Given the description of an element on the screen output the (x, y) to click on. 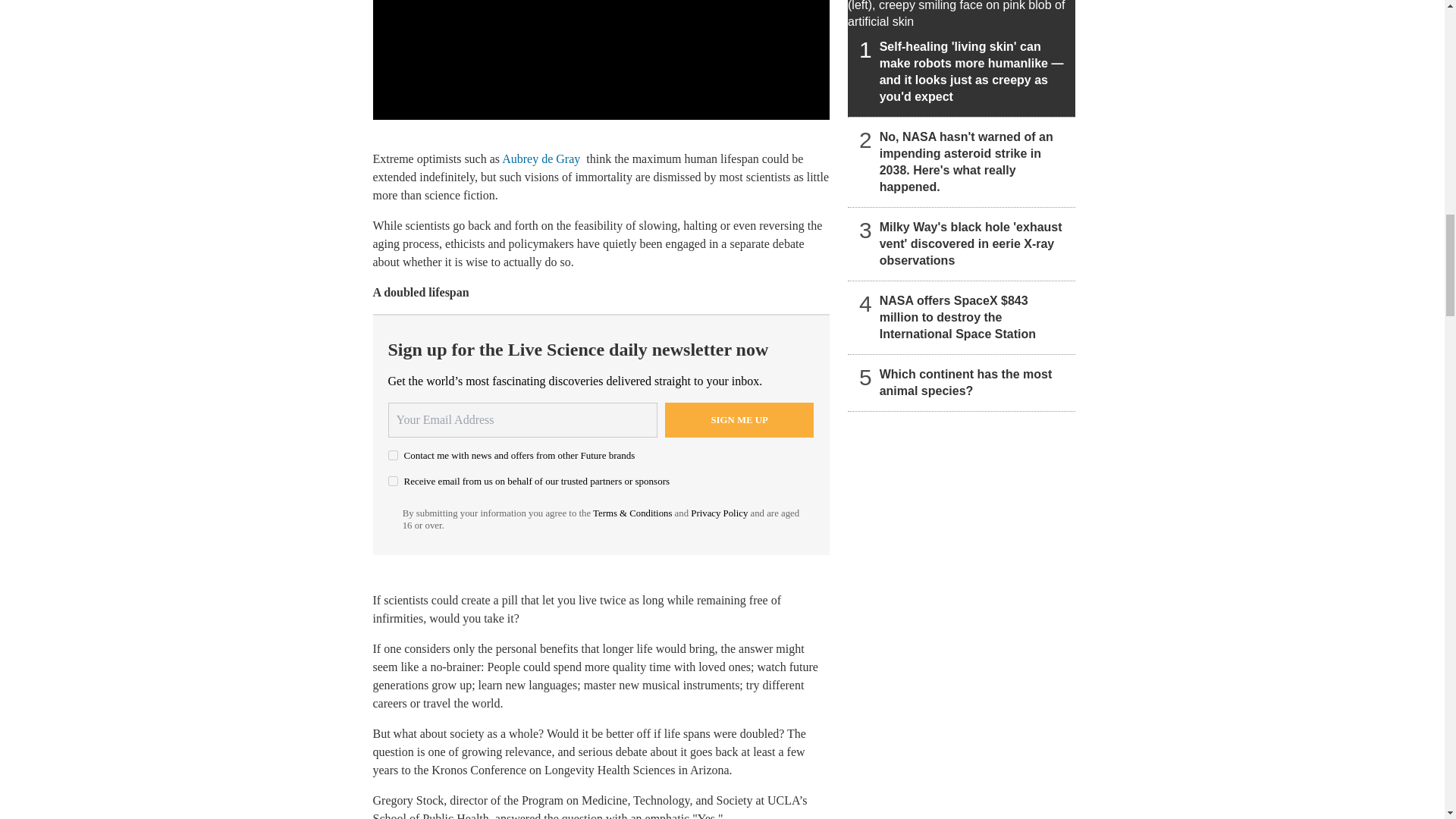
Sign me up (739, 419)
on (392, 455)
on (392, 480)
